Given the description of an element on the screen output the (x, y) to click on. 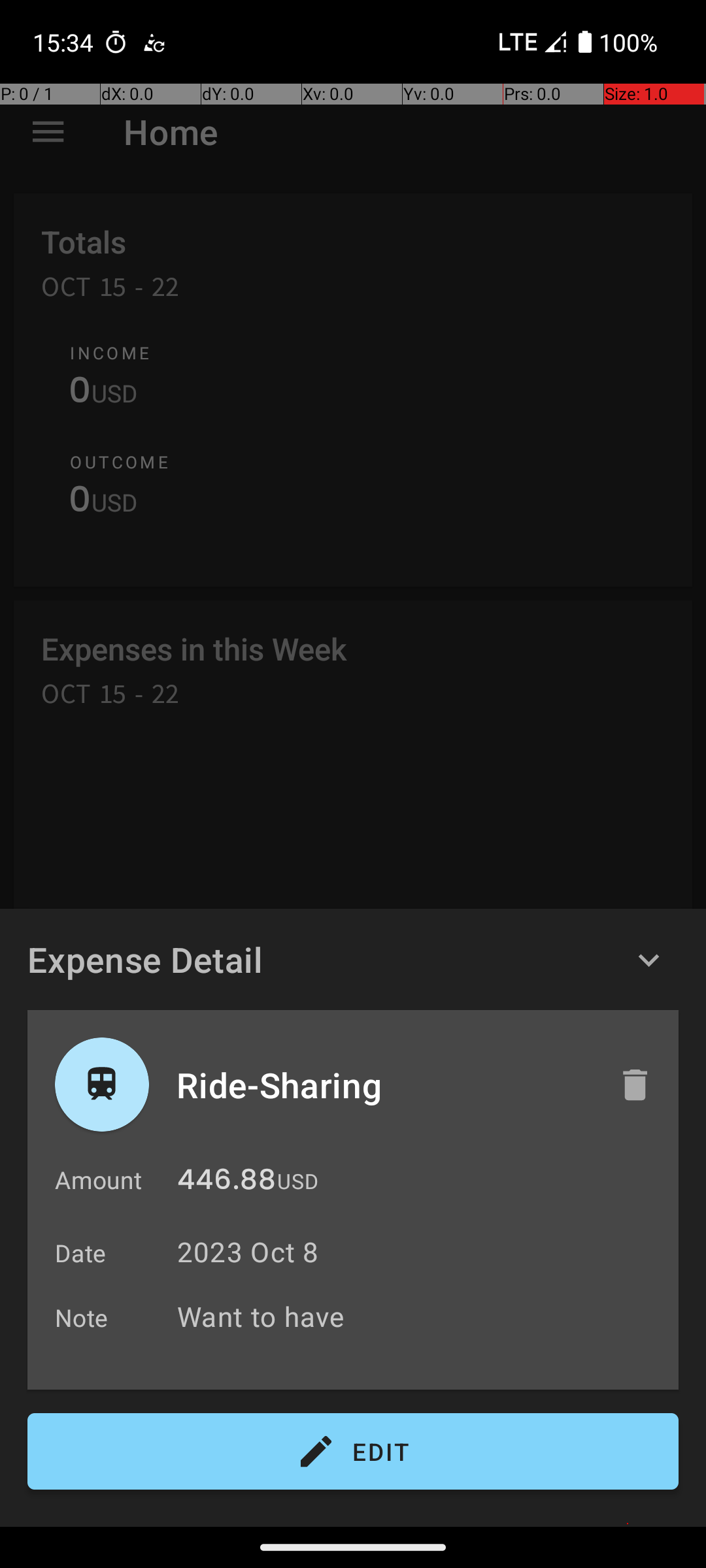
Ride-Sharing Element type: android.widget.TextView (383, 1084)
446.88 Element type: android.widget.TextView (226, 1182)
